Given the description of an element on the screen output the (x, y) to click on. 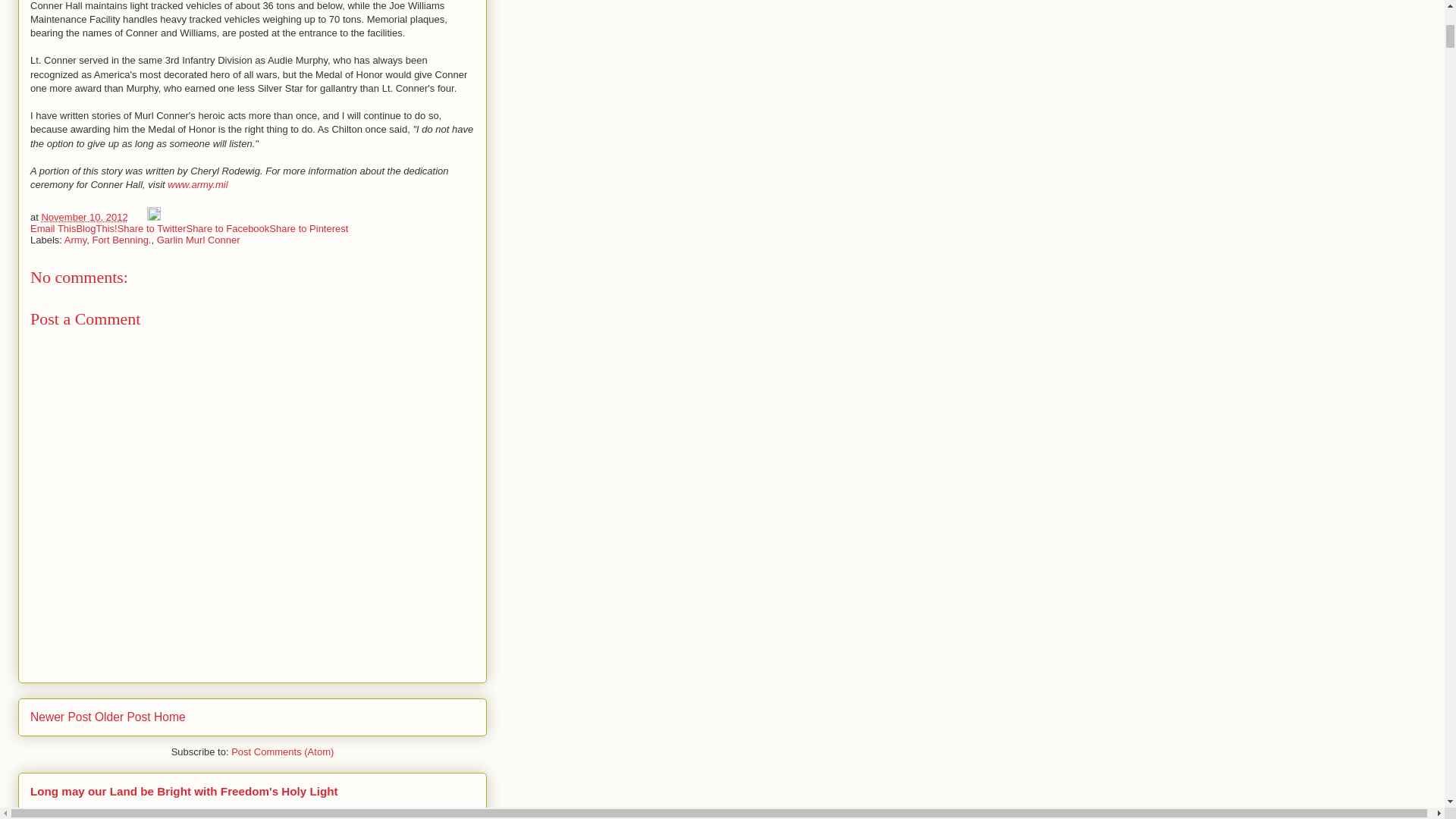
Email This (52, 228)
Share to Facebook (227, 228)
Share to Pinterest (308, 228)
Newer Post (60, 716)
Share to Pinterest (308, 228)
Share to Facebook (227, 228)
BlogThis! (95, 228)
Army (74, 239)
Older Post (122, 716)
Edit Post (153, 216)
www.army.mil (197, 184)
Older Post (122, 716)
Email This (52, 228)
Fort Benning. (121, 239)
November 10, 2012 (84, 216)
